Given the description of an element on the screen output the (x, y) to click on. 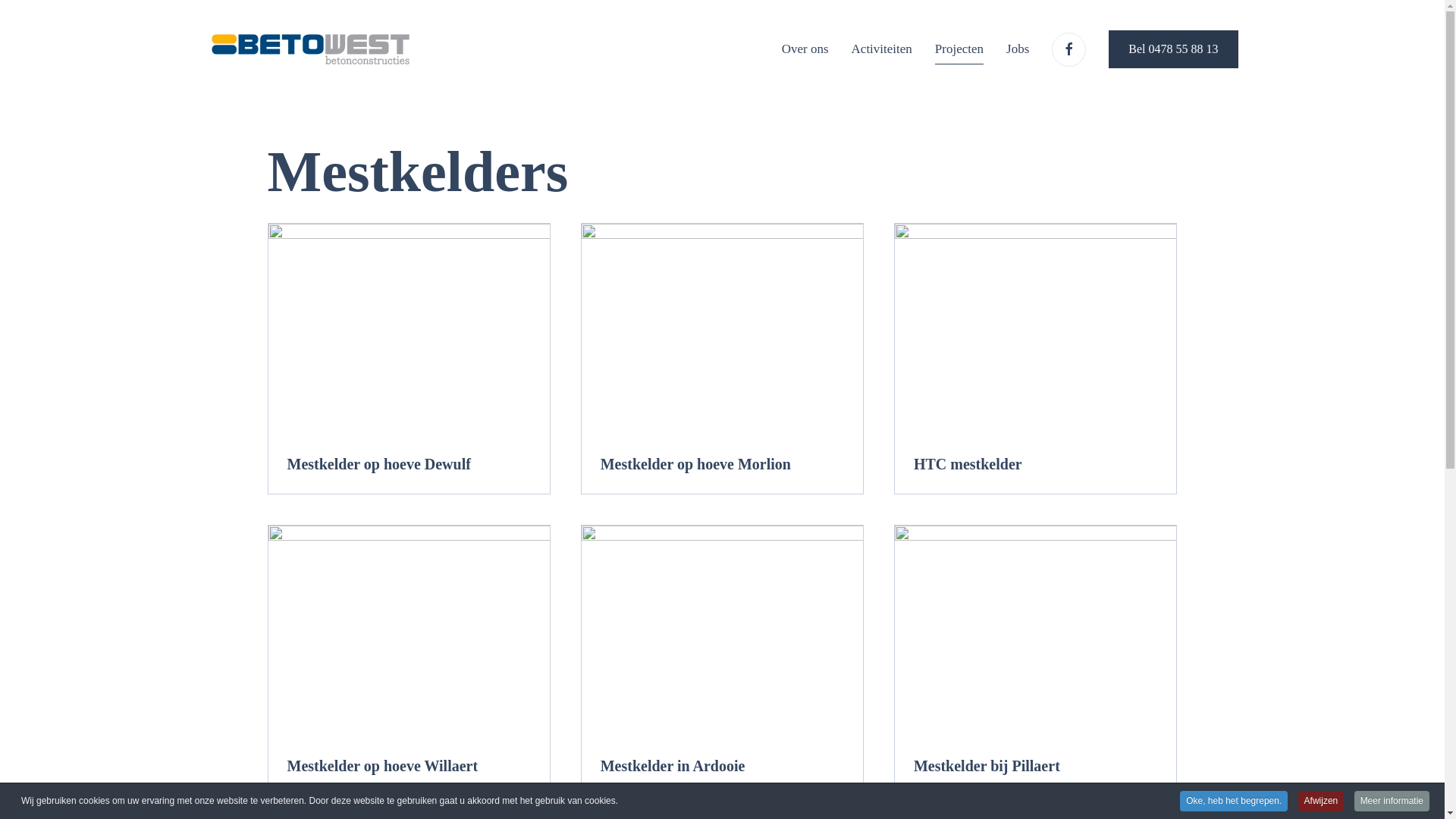
Mestkelder op hoeve Dewulf Element type: text (407, 358)
Activiteiten Element type: text (881, 49)
Jobs Element type: text (1017, 49)
HTC mestkelder Element type: text (1035, 358)
Afwijzen Element type: text (1321, 800)
Mestkelder op hoeve Morlion Element type: text (721, 358)
Bel 0478 55 88 13 Element type: text (1172, 49)
Mestkelder in Ardooie Element type: text (721, 660)
Oke, heb het begrepen. Element type: text (1233, 800)
Meer informatie Element type: text (1391, 800)
Over ons Element type: text (804, 49)
Projecten Element type: text (959, 49)
Mestkelder op hoeve Willaert Element type: text (407, 660)
Mestkelder bij Pillaert Element type: text (1035, 660)
